Given the description of an element on the screen output the (x, y) to click on. 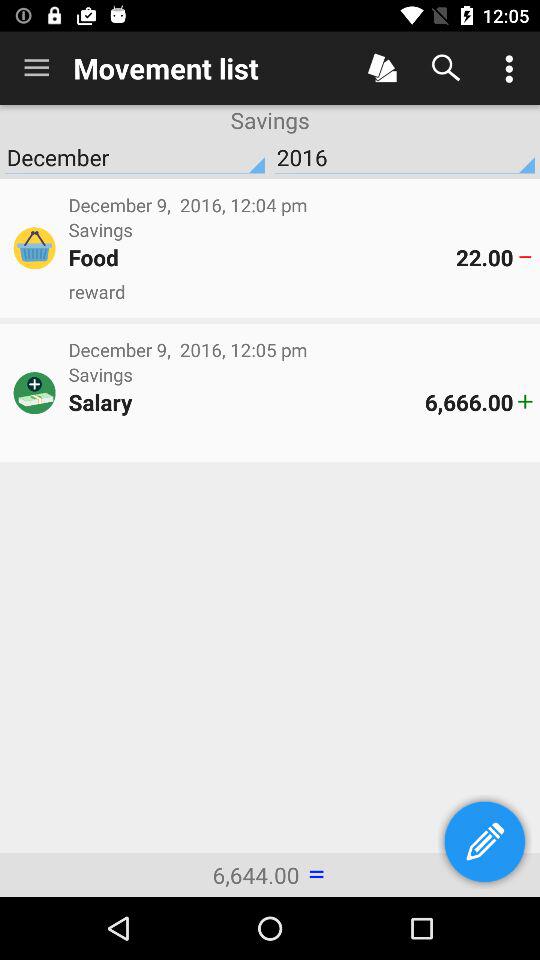
flip to the reward (300, 291)
